Given the description of an element on the screen output the (x, y) to click on. 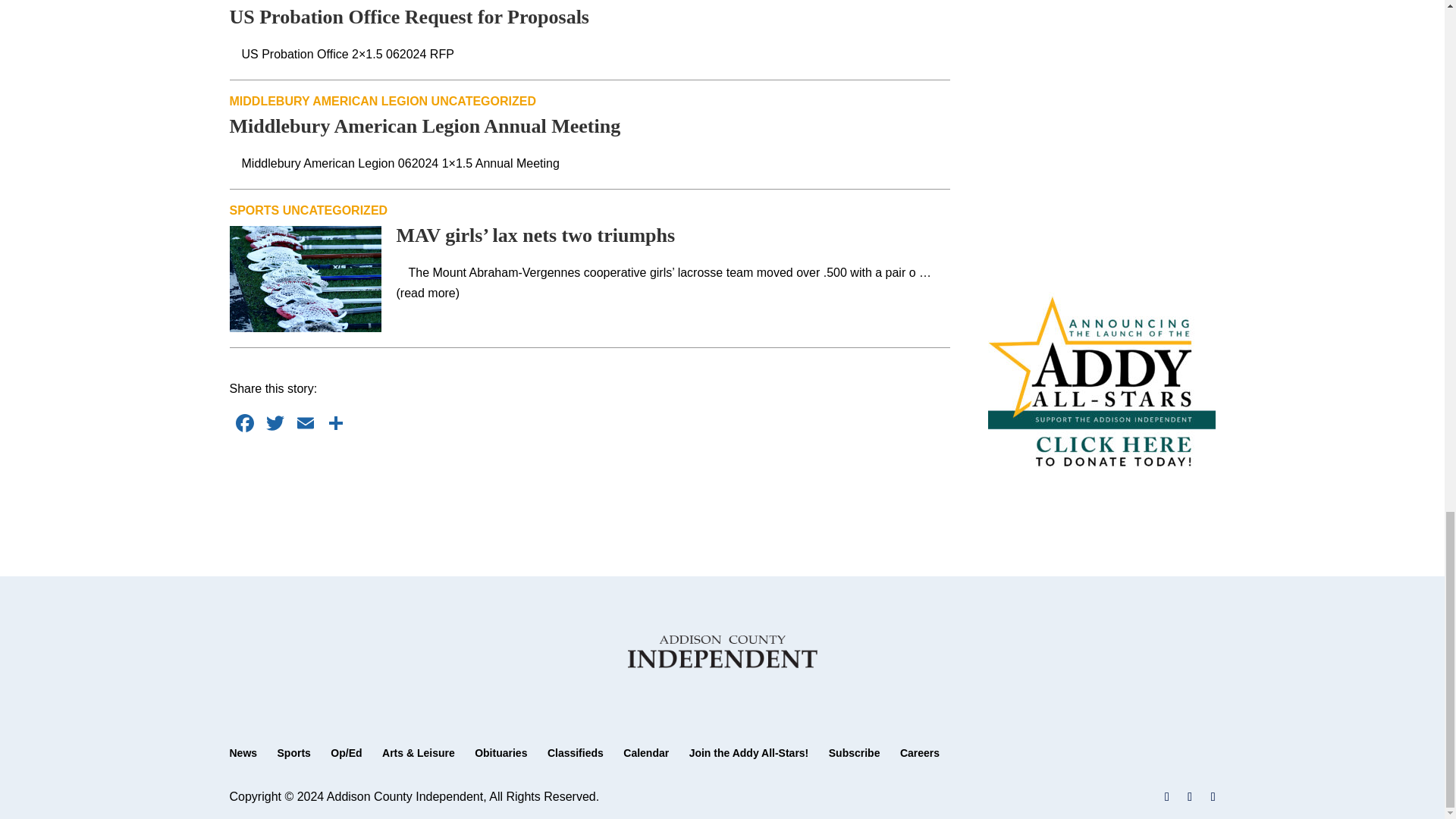
Twitter (274, 424)
Facebook (243, 424)
Email (304, 424)
3rd party ad content (590, 485)
